Given the description of an element on the screen output the (x, y) to click on. 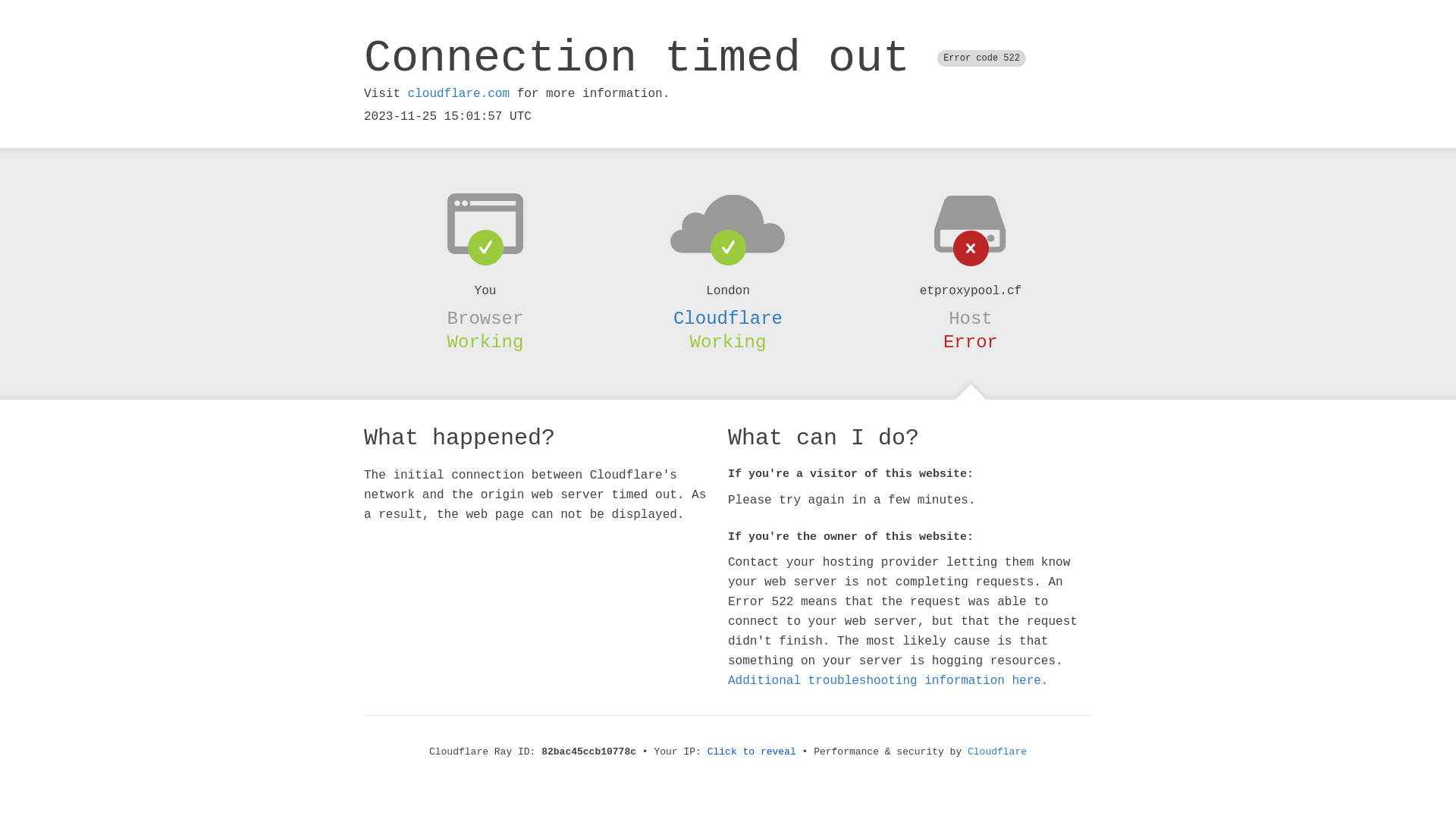
Click to reveal Element type: text (751, 751)
cloudflare.com Element type: text (458, 93)
Additional troubleshooting information here. Element type: text (888, 680)
Cloudflare Element type: text (727, 318)
Cloudflare Element type: text (996, 751)
